Given the description of an element on the screen output the (x, y) to click on. 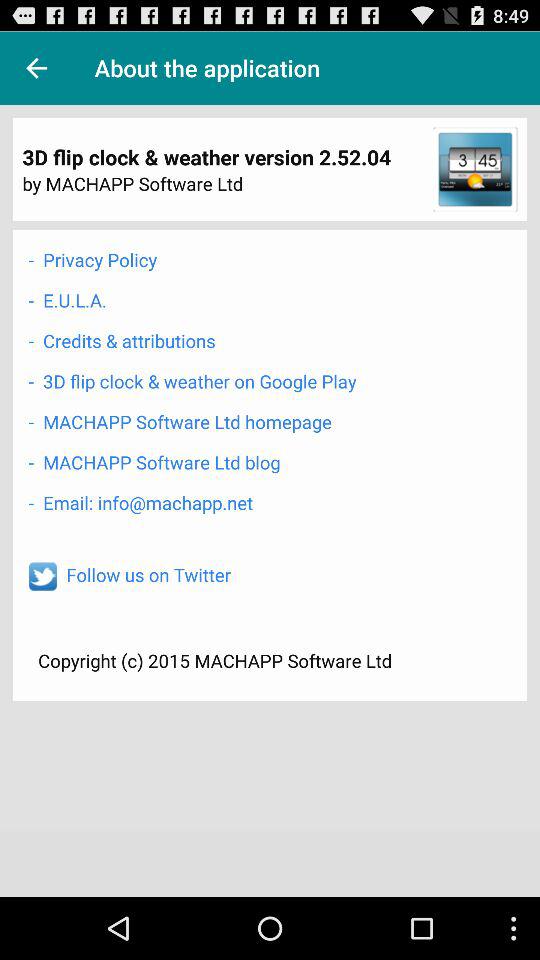
choose the -  privacy policy item (92, 259)
